Given the description of an element on the screen output the (x, y) to click on. 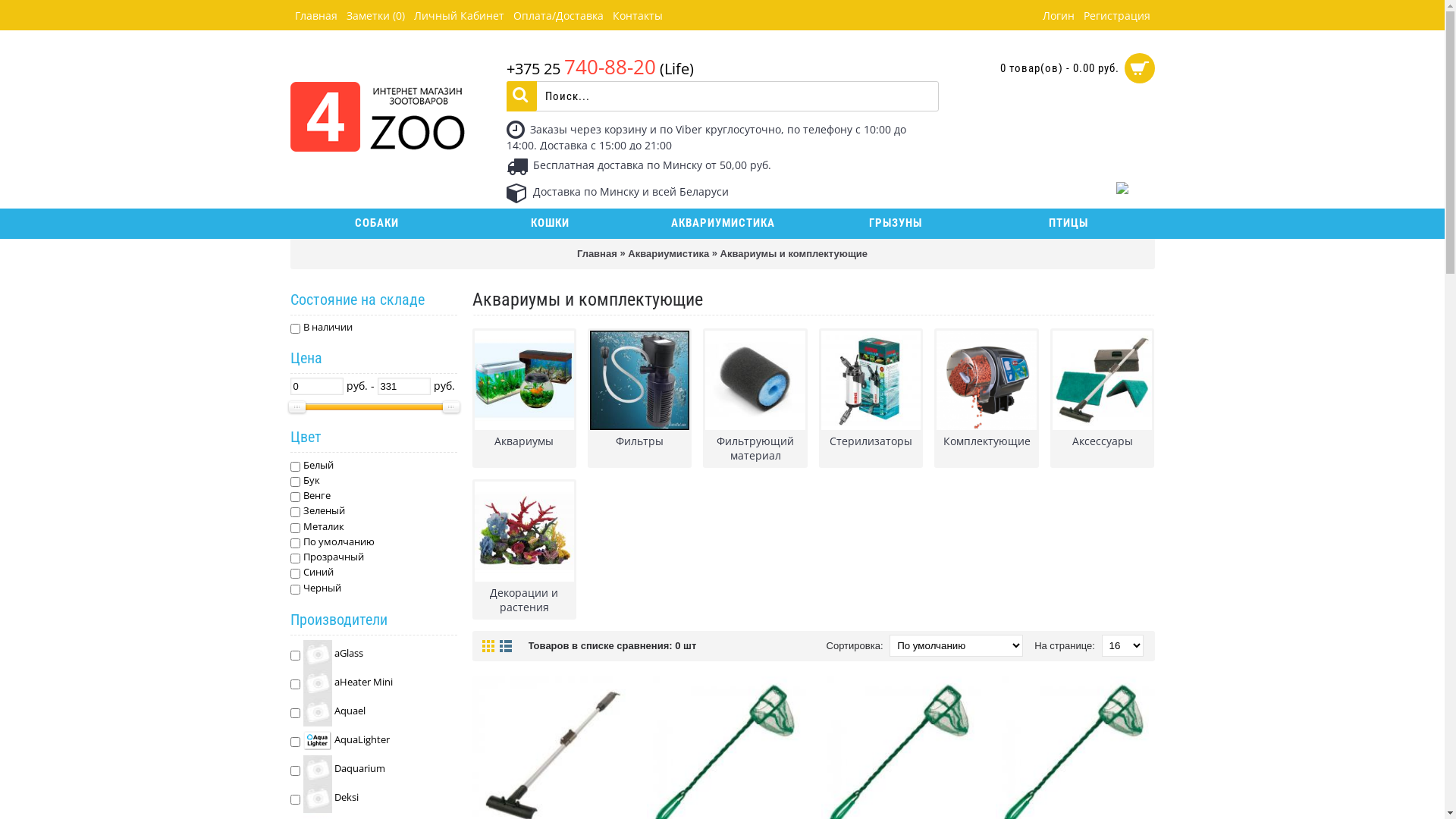
4ZOO.BY Element type: hover (376, 105)
